Given the description of an element on the screen output the (x, y) to click on. 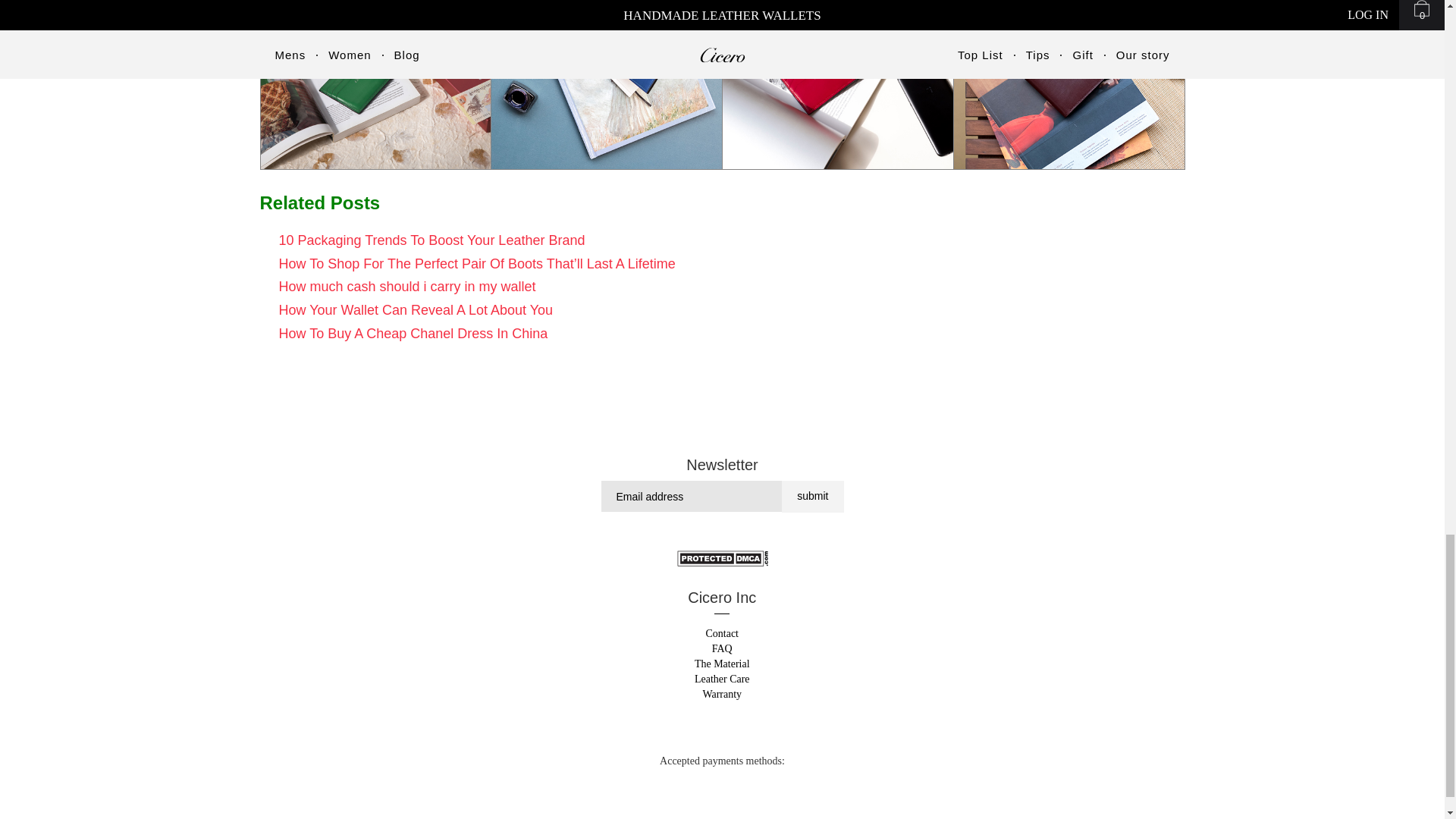
Warranty (721, 694)
The Material (721, 663)
Mens Leather Bifold Wallets USA Burgundy (1069, 84)
How much cash should i carry in my wallet (407, 286)
submit (812, 496)
10 Packaging Trends To Boost Your Leather Brand (432, 240)
Mens Leather Bifold Wallets Black Blue (607, 84)
How Your Wallet Can Reveal A Lot About You (416, 309)
Leather Care (721, 678)
How To Buy A Cheap Chanel Dress In China (413, 333)
How To Buy A Cheap Chanel Dress In China (413, 333)
Contact (721, 633)
How much cash should i carry in my wallet (407, 286)
10 Packaging Trends To Boost Your Leather Brand (432, 240)
Mens Bifold Leather Wallets Black Green (376, 84)
